Given the description of an element on the screen output the (x, y) to click on. 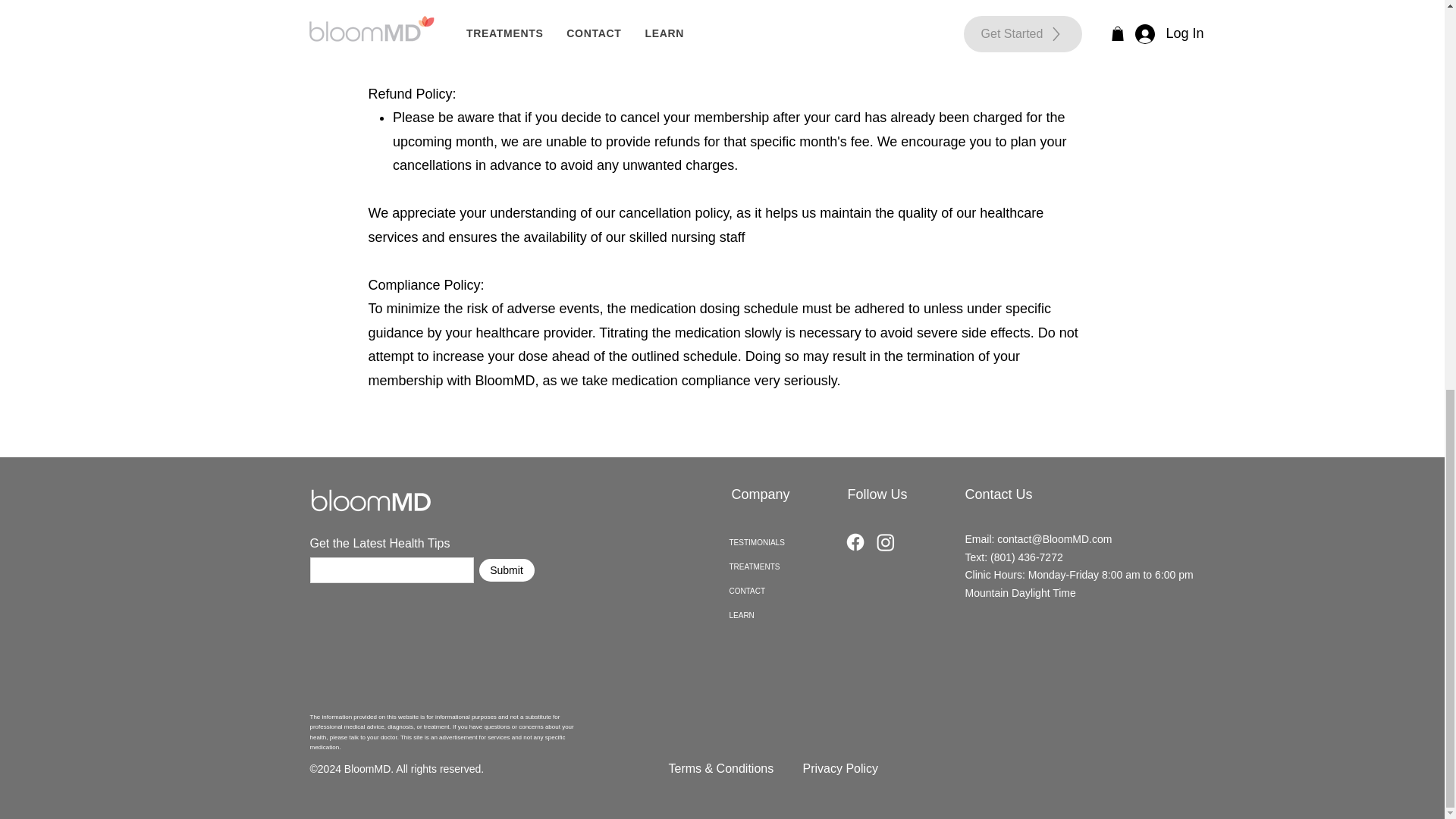
TREATMENTS (785, 567)
TESTIMONIALS (785, 542)
Submit (506, 569)
